Given the description of an element on the screen output the (x, y) to click on. 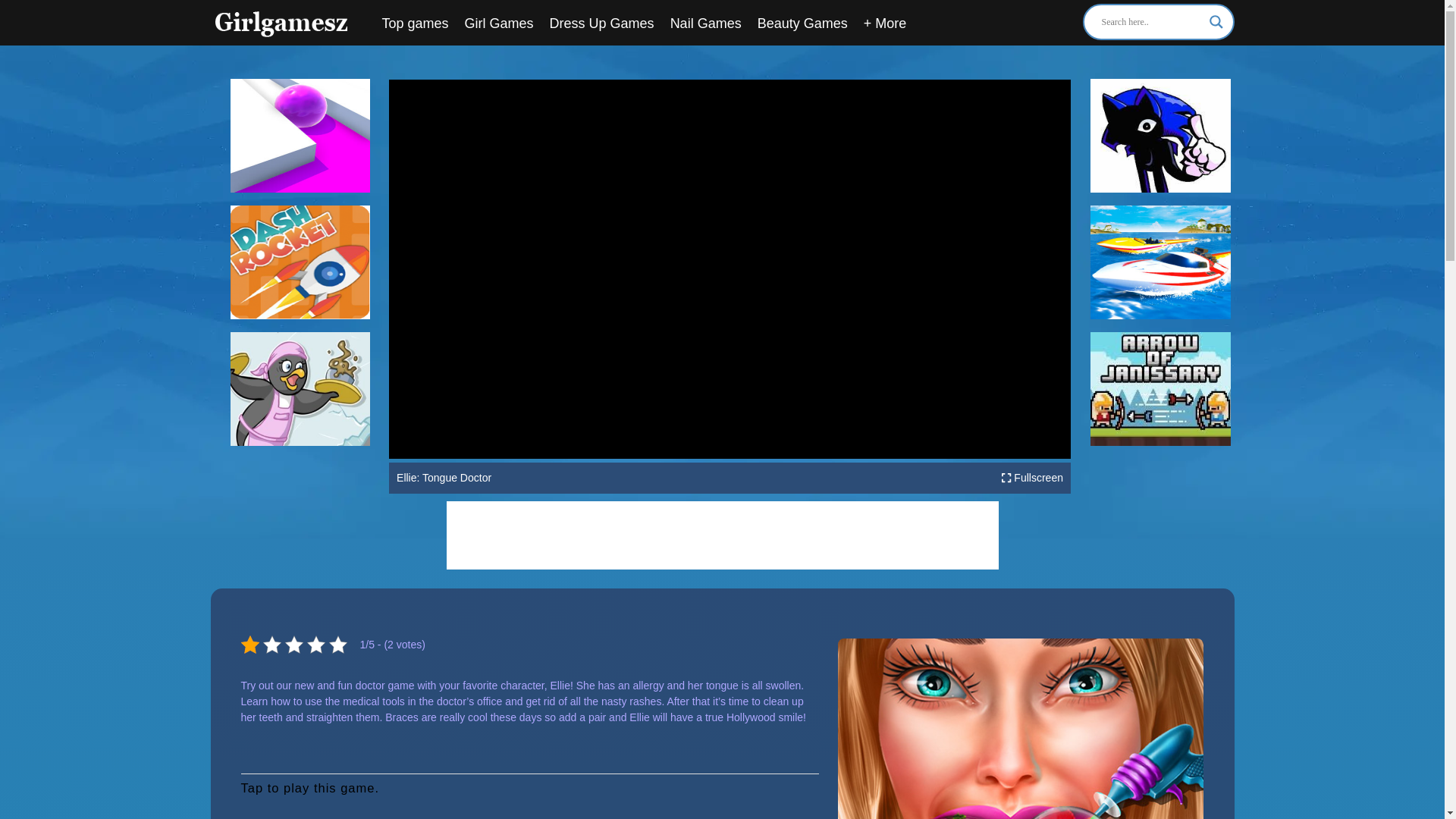
New Girl Games Dress Up (288, 22)
Beauty Games (802, 23)
Dress Up Games (601, 23)
Nail Games (705, 23)
Top games (414, 23)
Girl Games (499, 23)
